Given the description of an element on the screen output the (x, y) to click on. 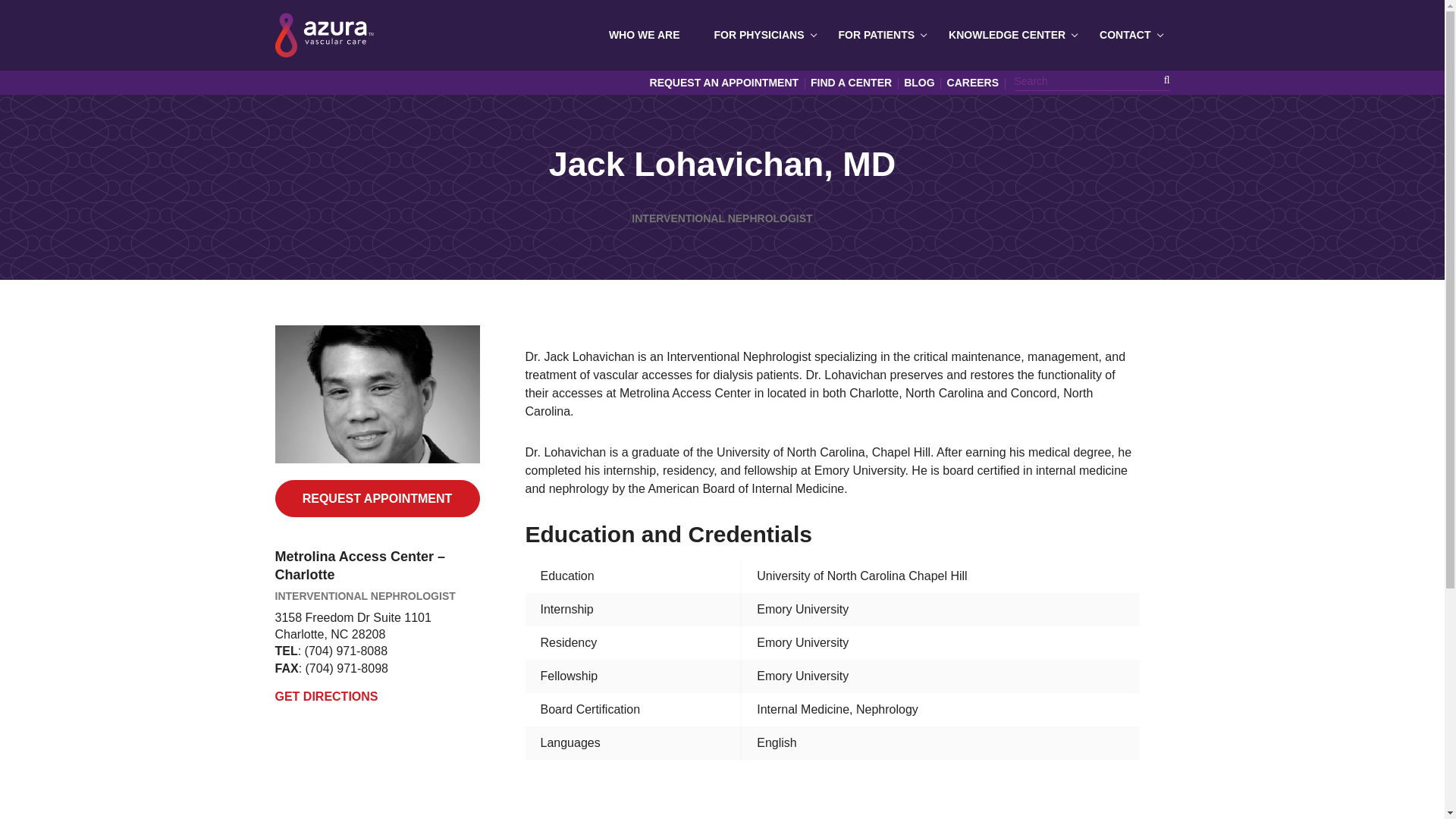
WHO WE ARE (646, 34)
FOR PHYSICIANS (760, 34)
TM (323, 34)
FOR PATIENTS (879, 34)
TM (323, 35)
